Given the description of an element on the screen output the (x, y) to click on. 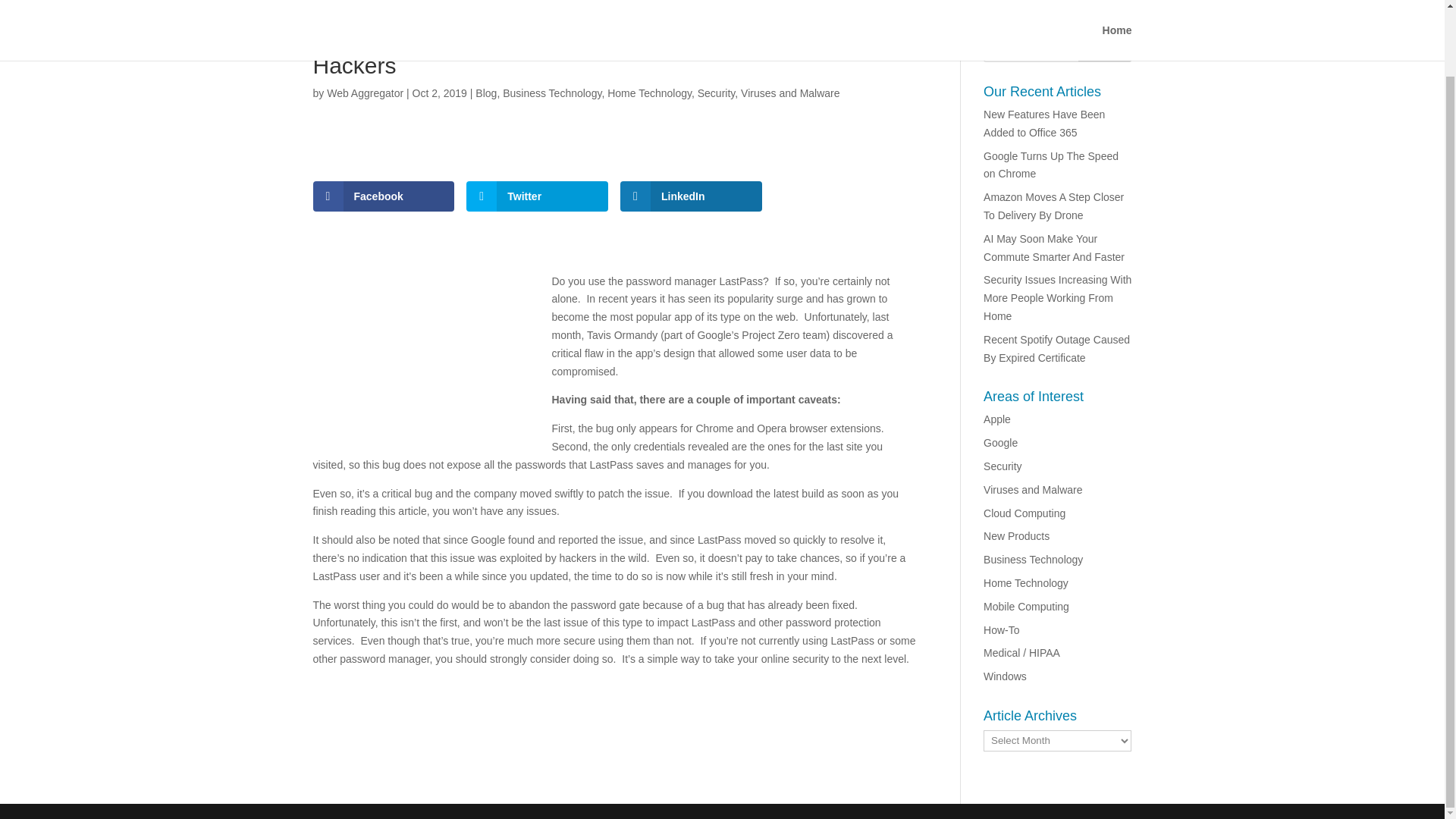
Viruses and Malware (1032, 490)
Facebook (383, 195)
Recent Spotify Outage Caused By Expired Certificate (1056, 348)
Google (1000, 442)
Business Technology (551, 92)
Amazon Moves A Step Closer To Delivery By Drone (1054, 205)
AI May Soon Make Your Commute Smarter And Faster (1054, 247)
New Features Have Been Added to Office 365 (1044, 123)
Viruses and Malware (790, 92)
Apple (997, 419)
